Given the description of an element on the screen output the (x, y) to click on. 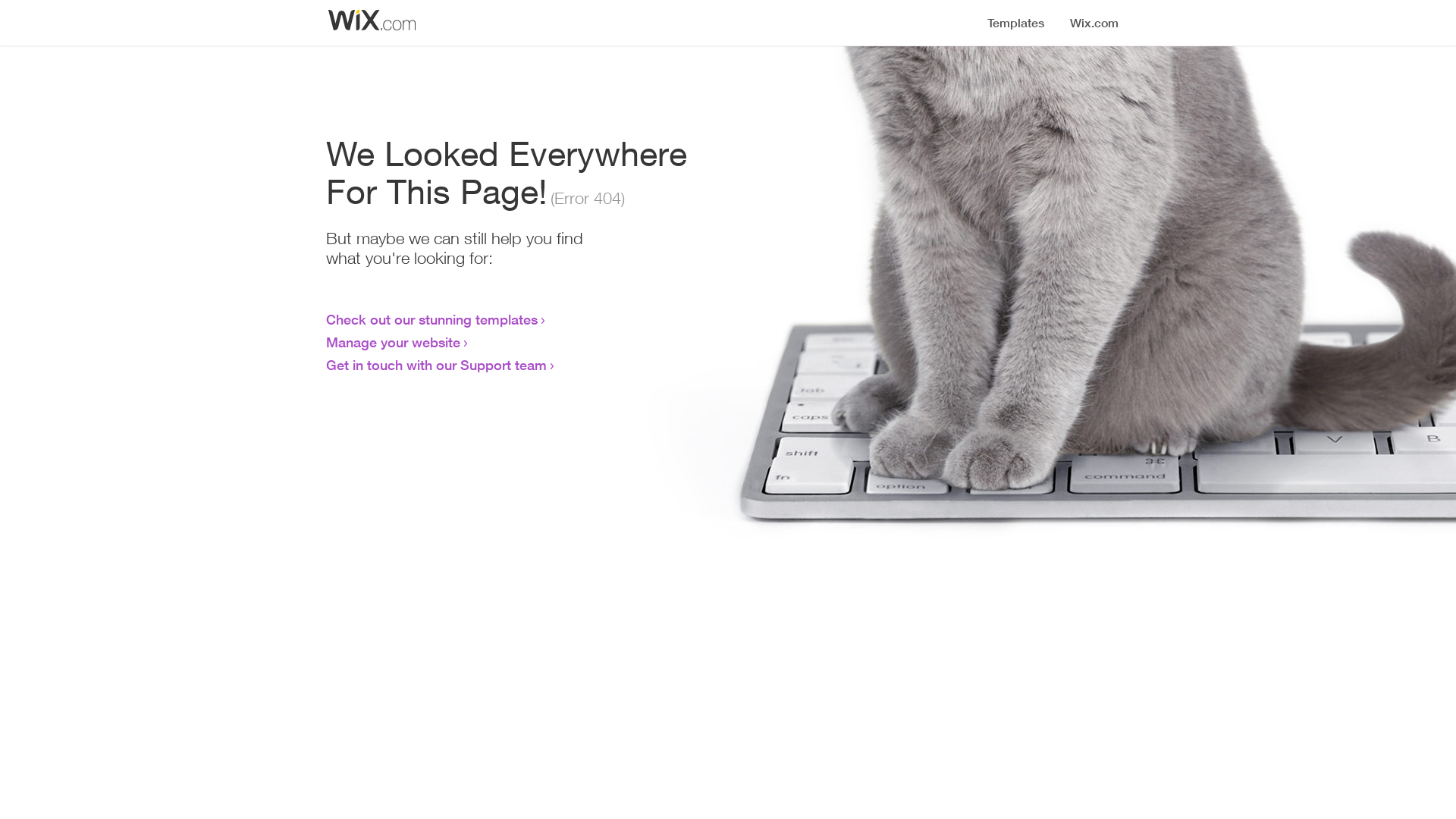
Get in touch with our Support team Element type: text (436, 364)
Check out our stunning templates Element type: text (431, 318)
Manage your website Element type: text (393, 341)
